Given the description of an element on the screen output the (x, y) to click on. 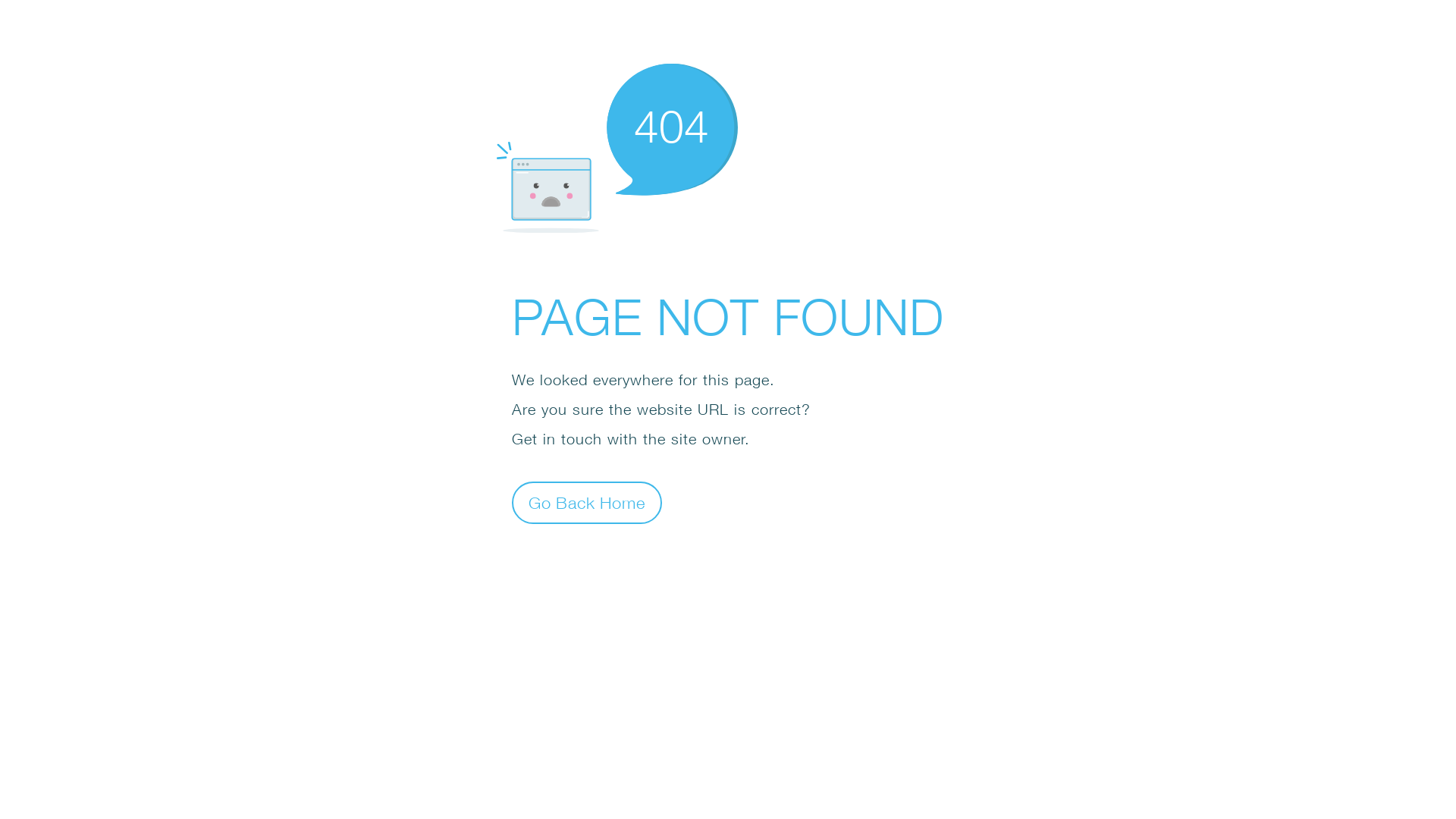
Go Back Home Element type: text (586, 502)
